Given the description of an element on the screen output the (x, y) to click on. 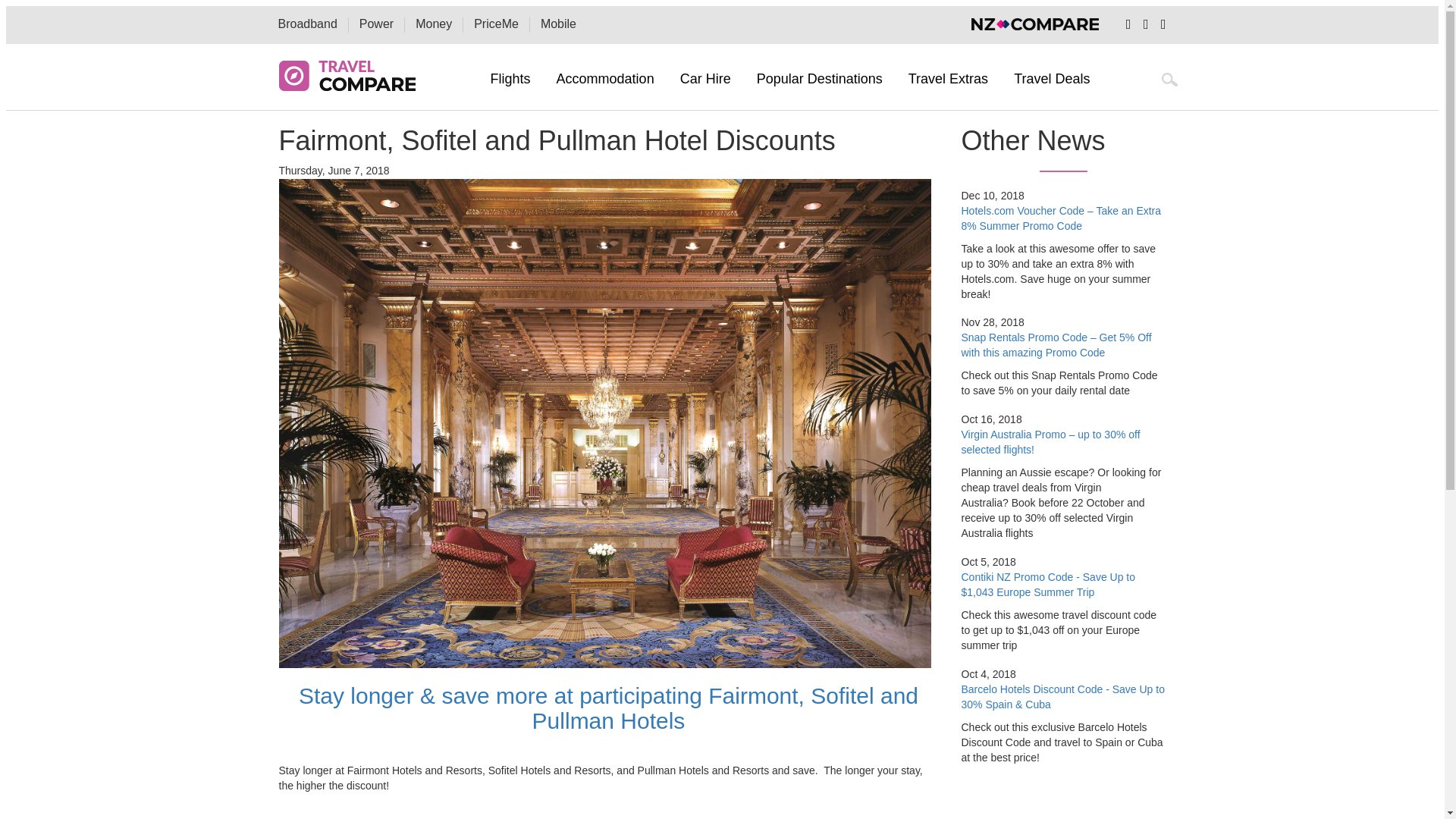
Flights (510, 79)
Mobile (558, 24)
Accommodation (604, 79)
Power (376, 24)
Car Hire (704, 79)
Money (432, 24)
PriceMe (496, 24)
Broadband (307, 24)
